Given the description of an element on the screen output the (x, y) to click on. 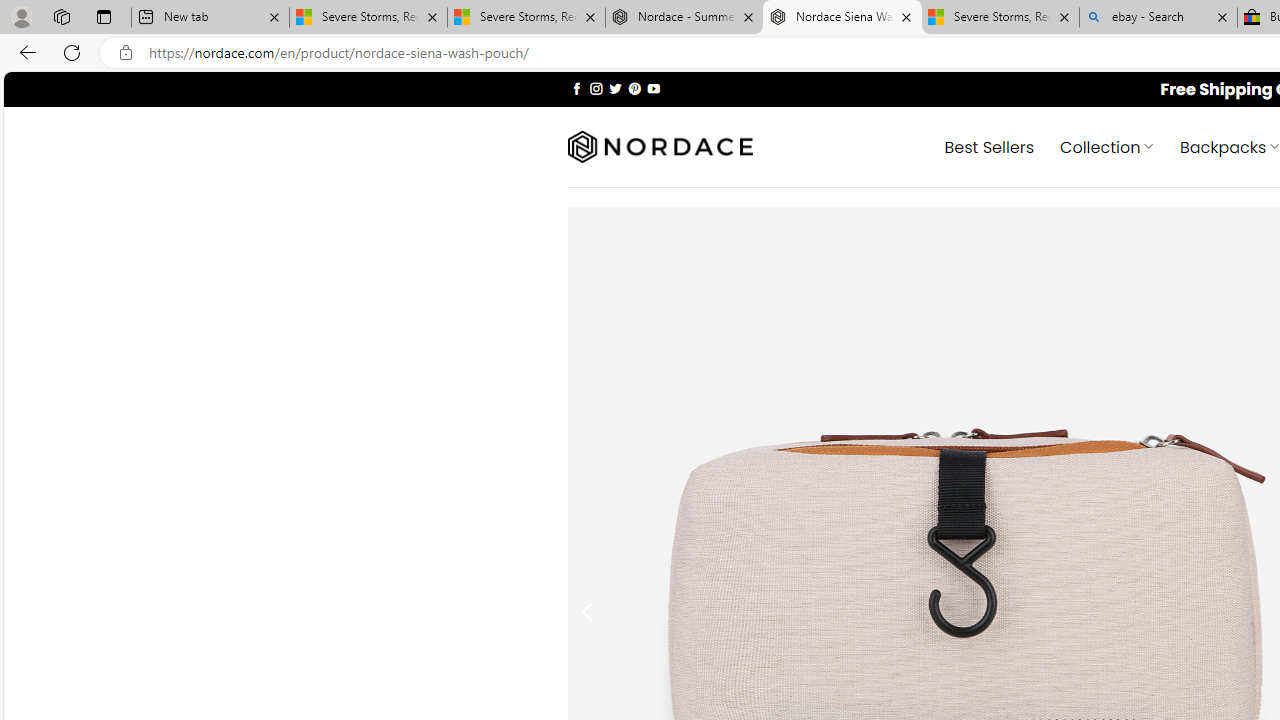
ebay - Search (1158, 17)
Follow on Twitter (615, 88)
Personal Profile (21, 16)
Back (24, 52)
Tab actions menu (104, 16)
Refresh (72, 52)
  Best Sellers (989, 146)
Nordace - Summer Adventures 2024 (683, 17)
